Given the description of an element on the screen output the (x, y) to click on. 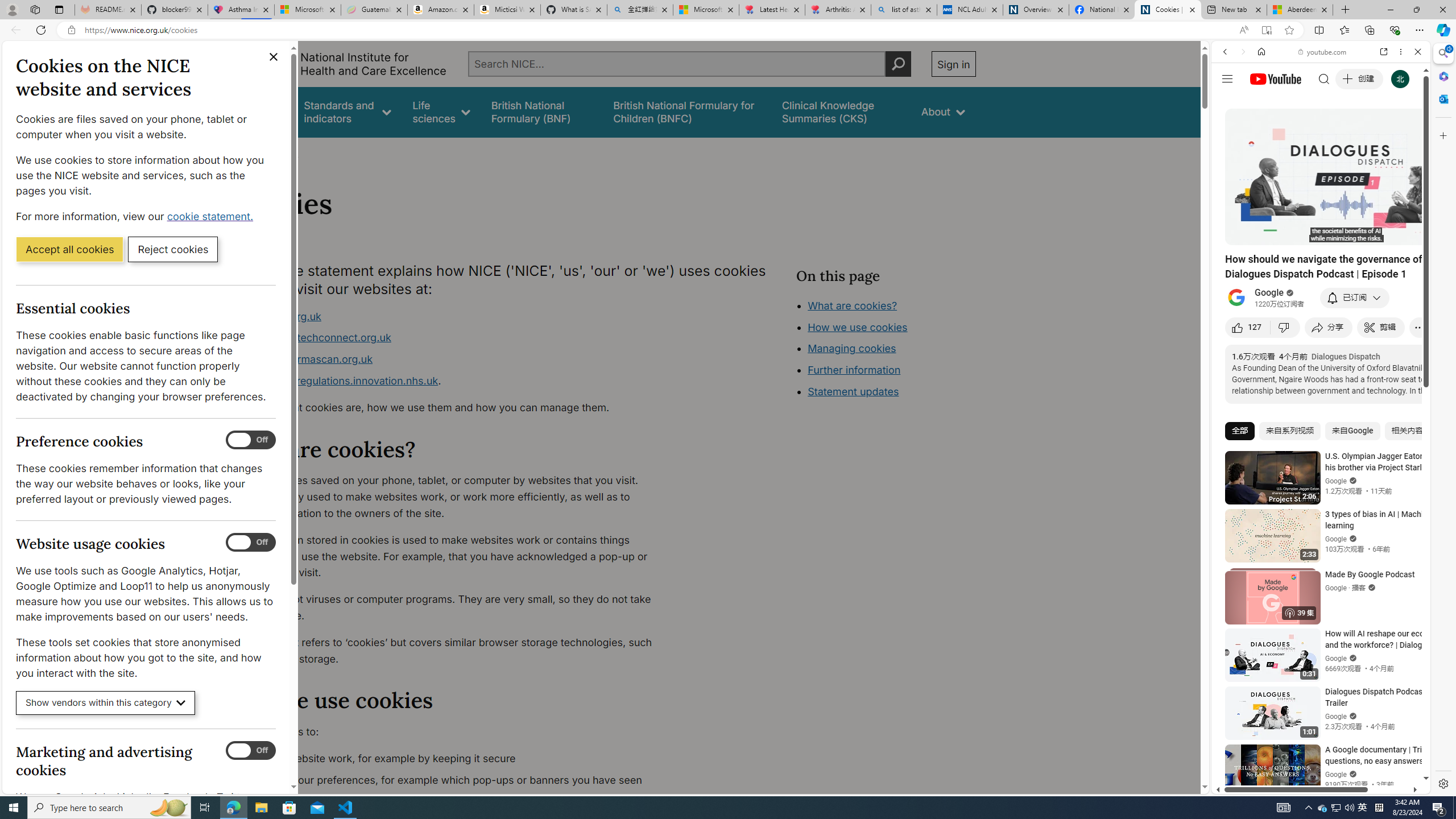
www.ukpharmascan.org.uk (452, 359)
Class: dict_pnIcon rms_img (1312, 784)
How we use cookies (896, 389)
youtube.com (1322, 51)
